Given the description of an element on the screen output the (x, y) to click on. 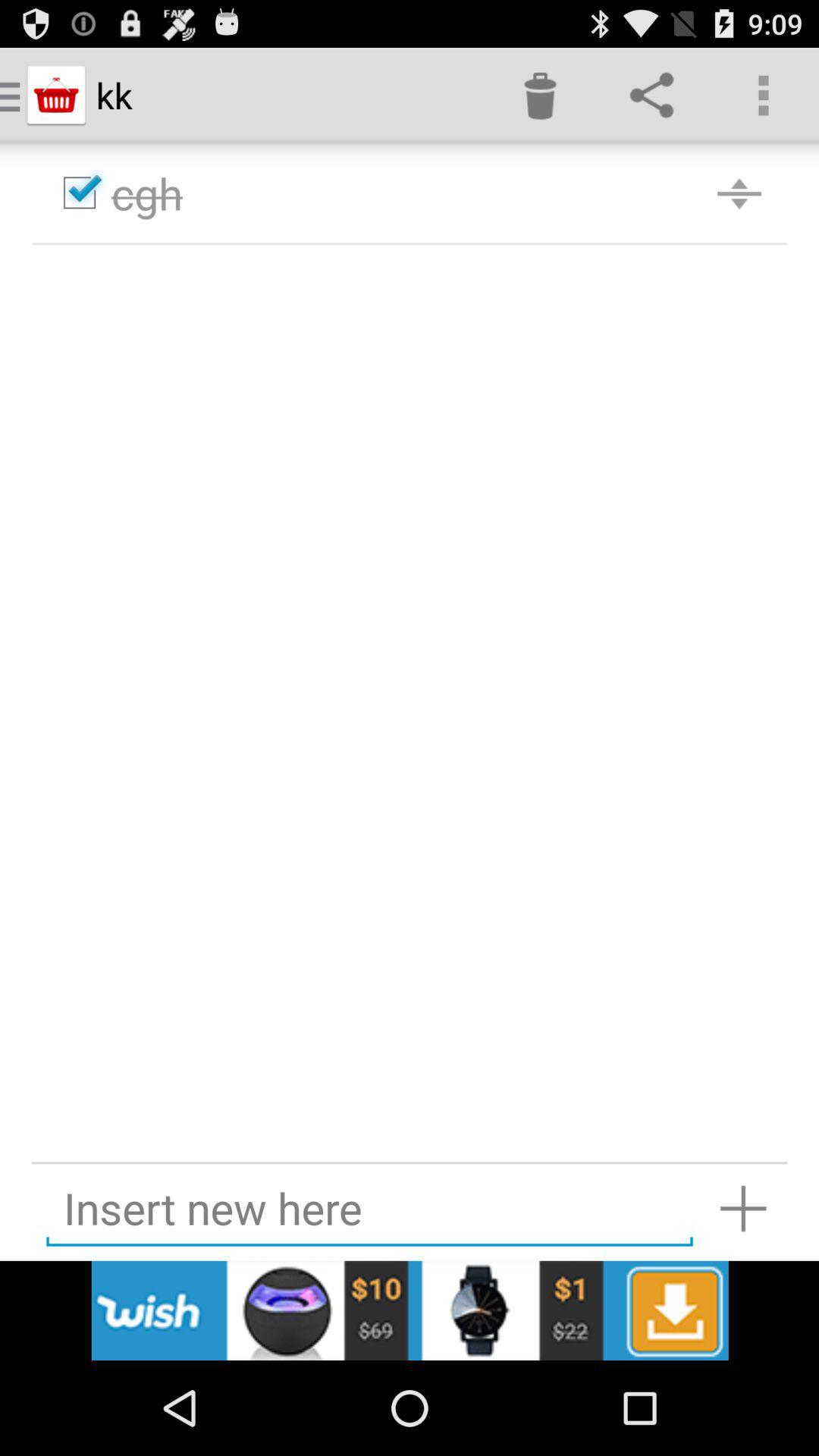
add new insert (743, 1208)
